Given the description of an element on the screen output the (x, y) to click on. 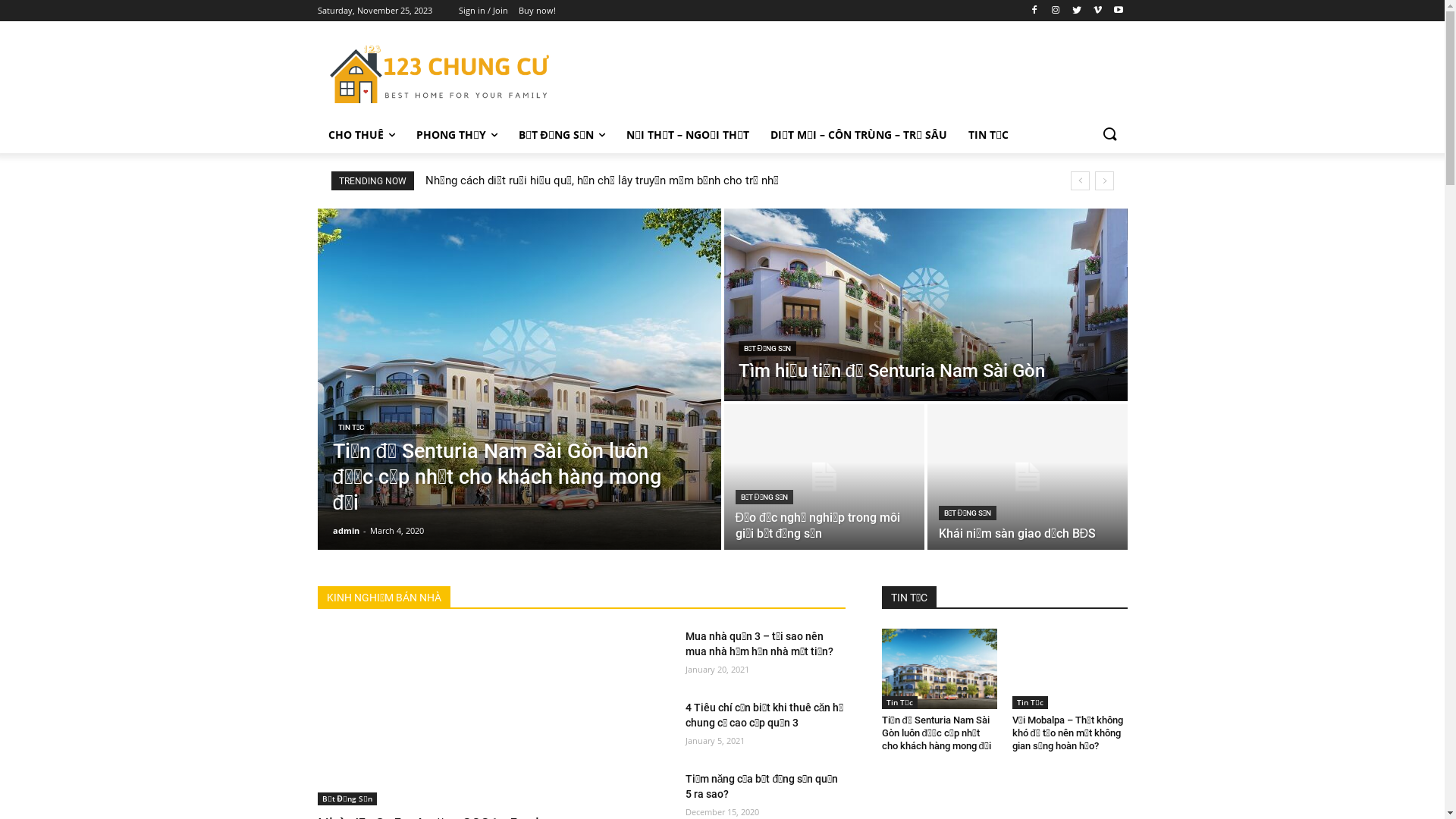
admin Element type: text (345, 530)
Sign in / Join Element type: text (483, 10)
Buy now! Element type: text (536, 10)
